Given the description of an element on the screen output the (x, y) to click on. 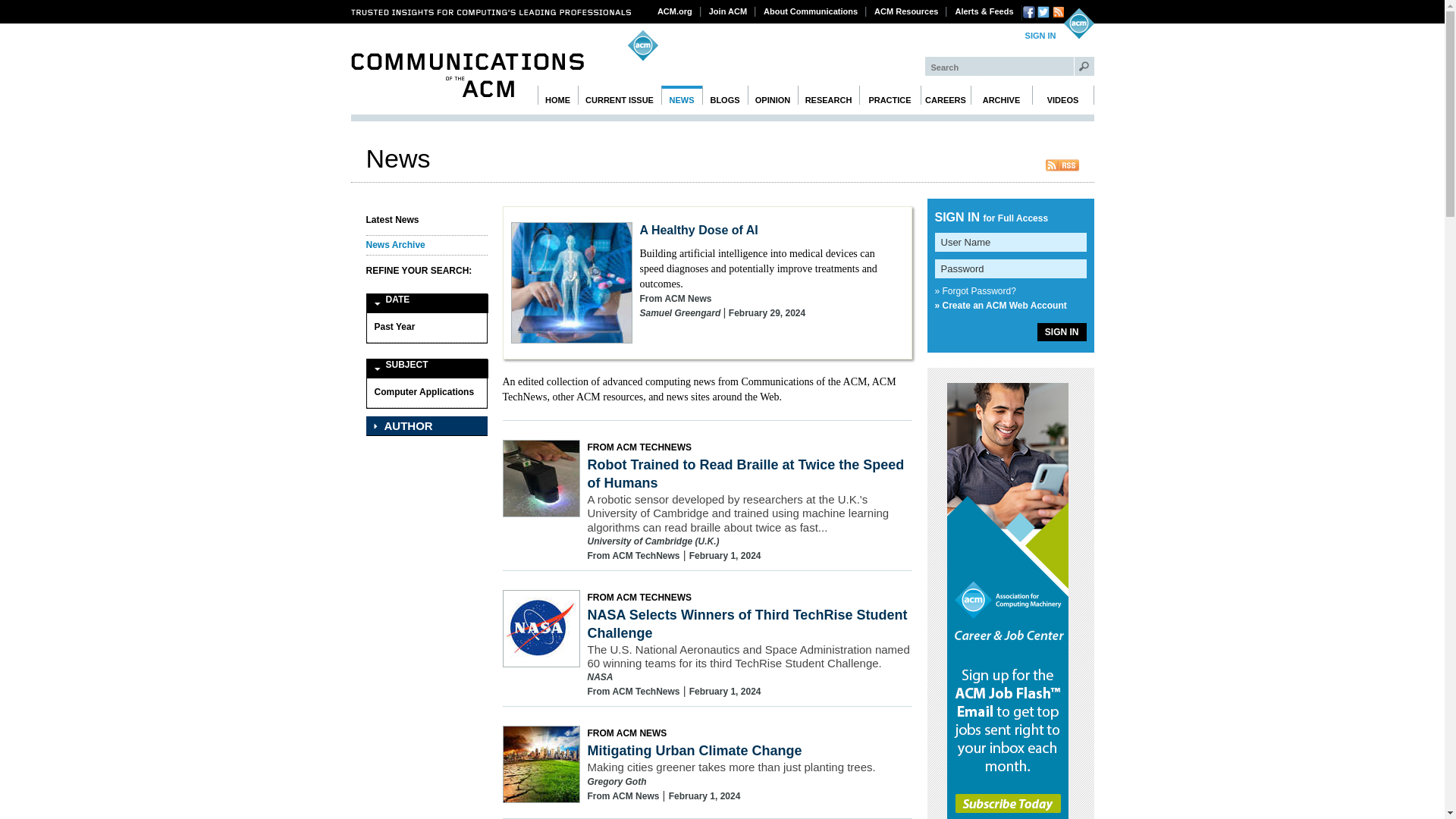
About Communications (810, 11)
Communications of the ACM (466, 75)
CAREERS (945, 94)
ACM (1077, 23)
ACM Resources (906, 11)
Join ACM (727, 11)
ACM Resources (906, 11)
Join ACM (727, 11)
ACM.org (674, 11)
RESEARCH (828, 94)
ACM (1077, 23)
SIGN IN (1041, 35)
OPINION (772, 94)
PRACTICE (889, 94)
ACM.org (674, 11)
